Given the description of an element on the screen output the (x, y) to click on. 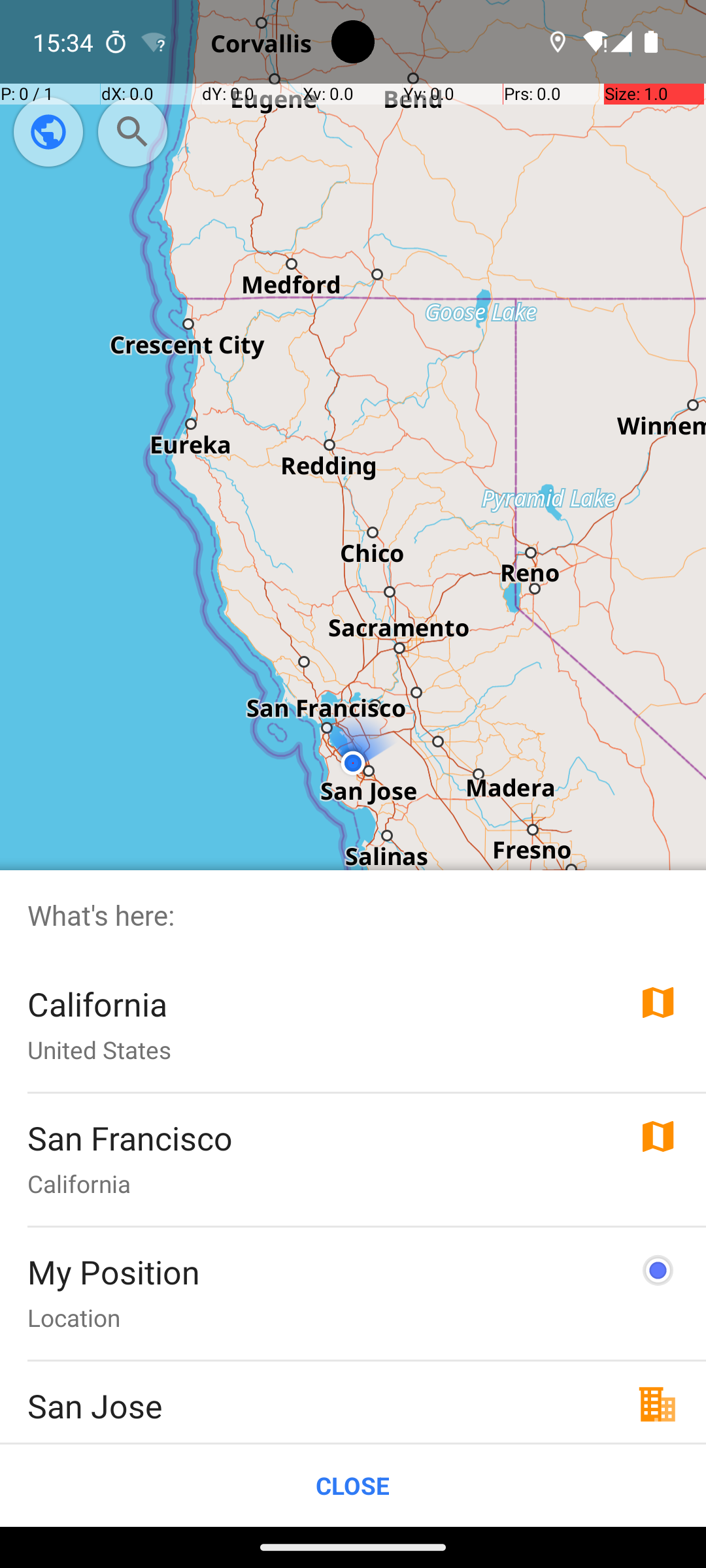
CLOSE Element type: android.widget.TextView (352, 1485)
What's here: Element type: android.widget.TextView (352, 914)
California Element type: android.widget.TextView (97, 1003)
United States Element type: android.widget.TextView (99, 1049)
San Francisco Element type: android.widget.TextView (130, 1137)
San Jose Element type: android.widget.TextView (94, 1405)
City Element type: android.widget.TextView (47, 1438)
